Given the description of an element on the screen output the (x, y) to click on. 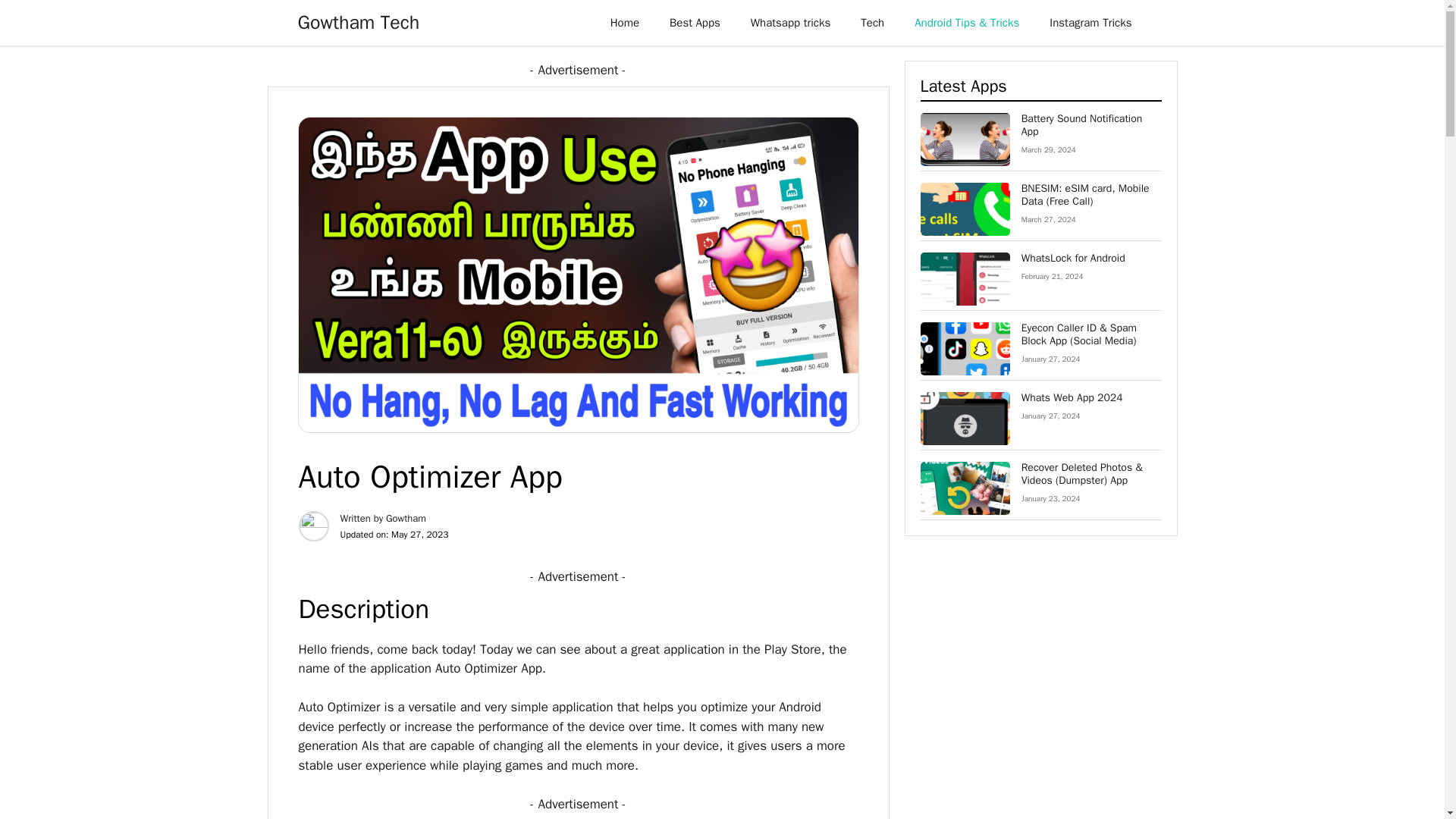
Gowtham (405, 517)
Gowtham Tech (358, 22)
Whatsapp tricks (790, 22)
Tech (872, 22)
Battery Sound Notification App (1082, 125)
Home (624, 22)
Best Apps (694, 22)
Instagram Tricks (1090, 22)
